Given the description of an element on the screen output the (x, y) to click on. 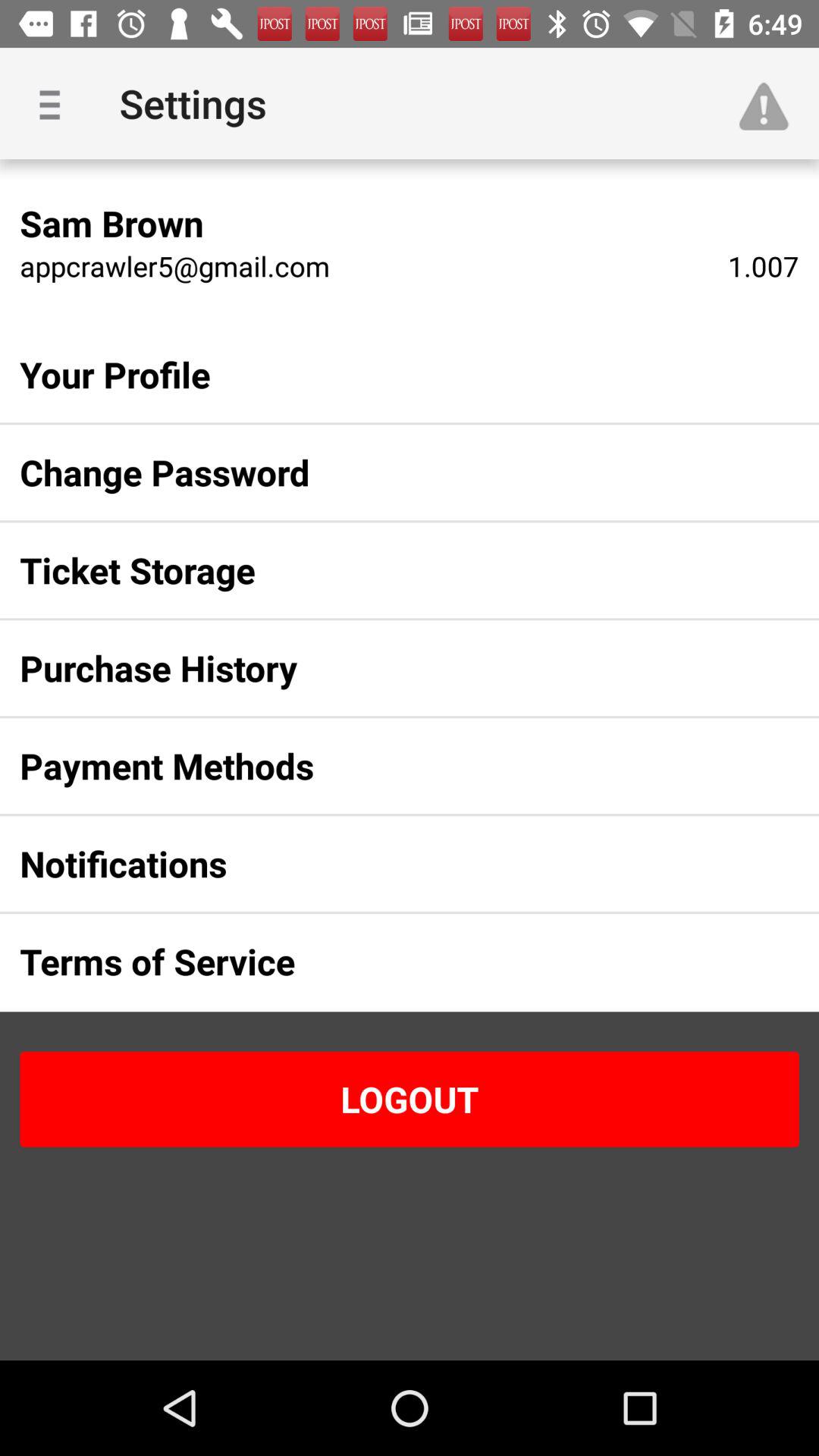
press item to the left of settings item (55, 103)
